Given the description of an element on the screen output the (x, y) to click on. 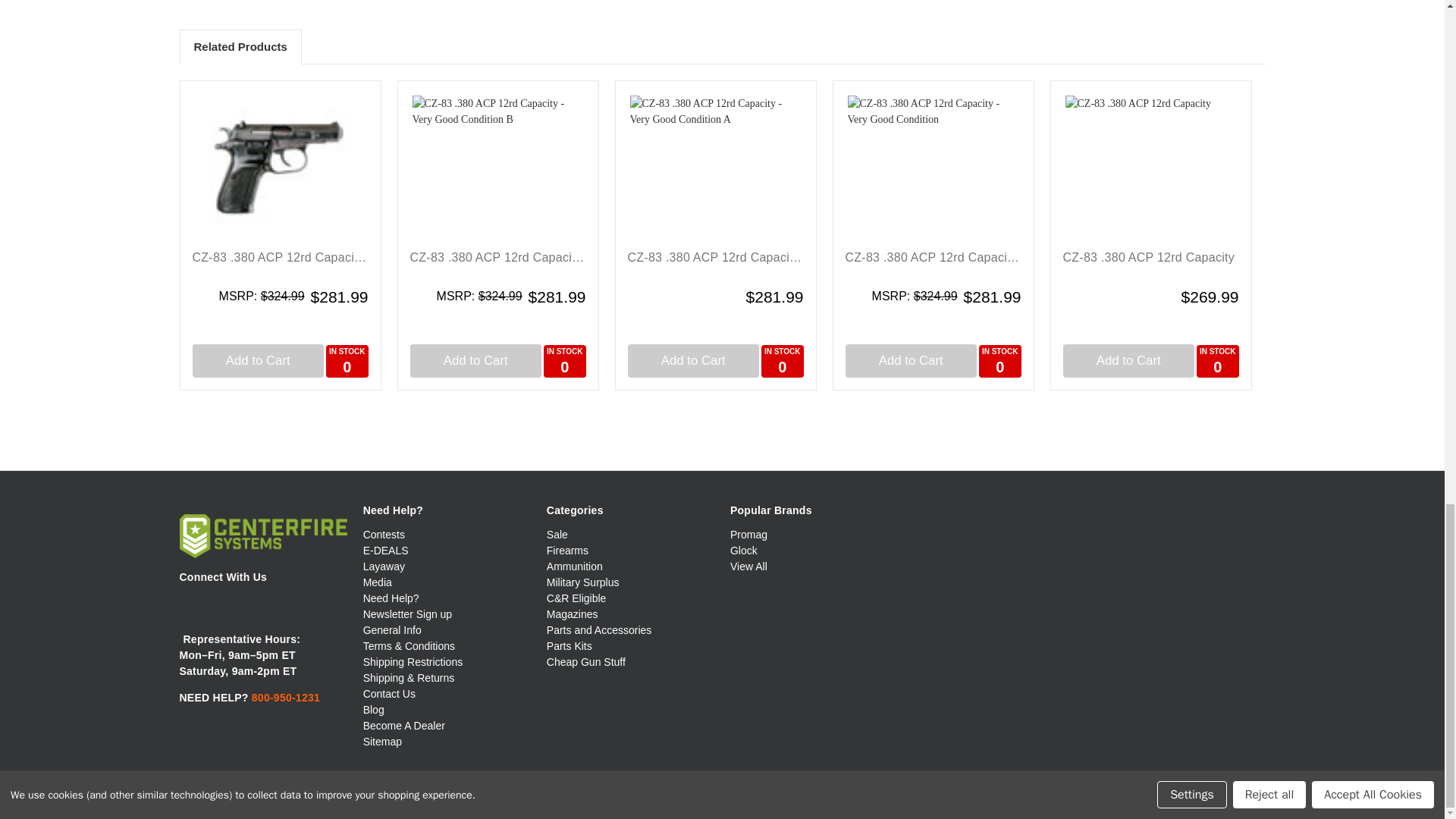
Centerfire Systems (262, 535)
CZ-83 .380 ACP 12rd Capacity - Very Good Condition A (714, 166)
CZ-83 .380 ACP 12rd Capacity - Very Good Condition C (279, 166)
CZ-83 .380 ACP 12rd Capacity - Very Good Condition B (497, 166)
CZ-83 .380 ACP 12rd Capacity - Very Good Condition (933, 166)
CZ-83 .380 ACP 12rd Capacity (1150, 166)
